Given the description of an element on the screen output the (x, y) to click on. 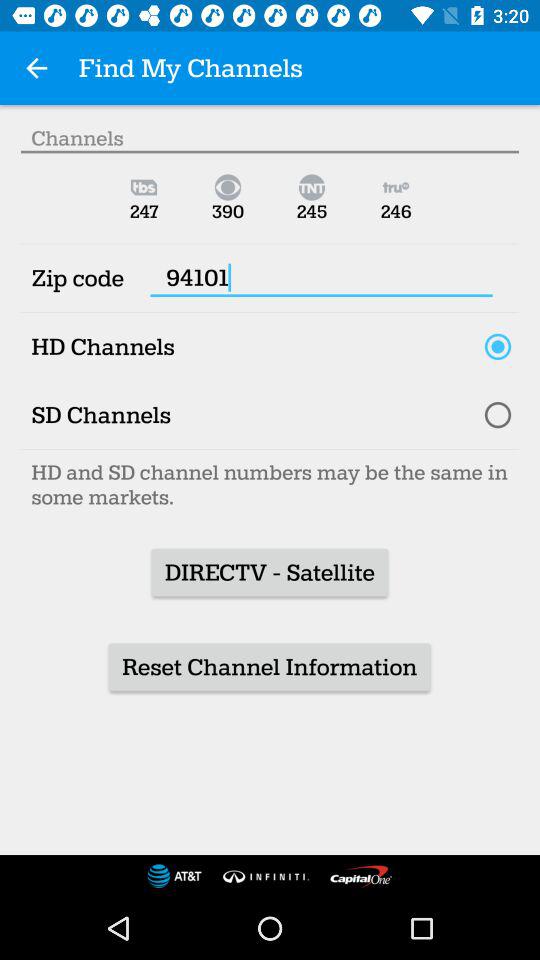
select hd channels option (498, 346)
